Given the description of an element on the screen output the (x, y) to click on. 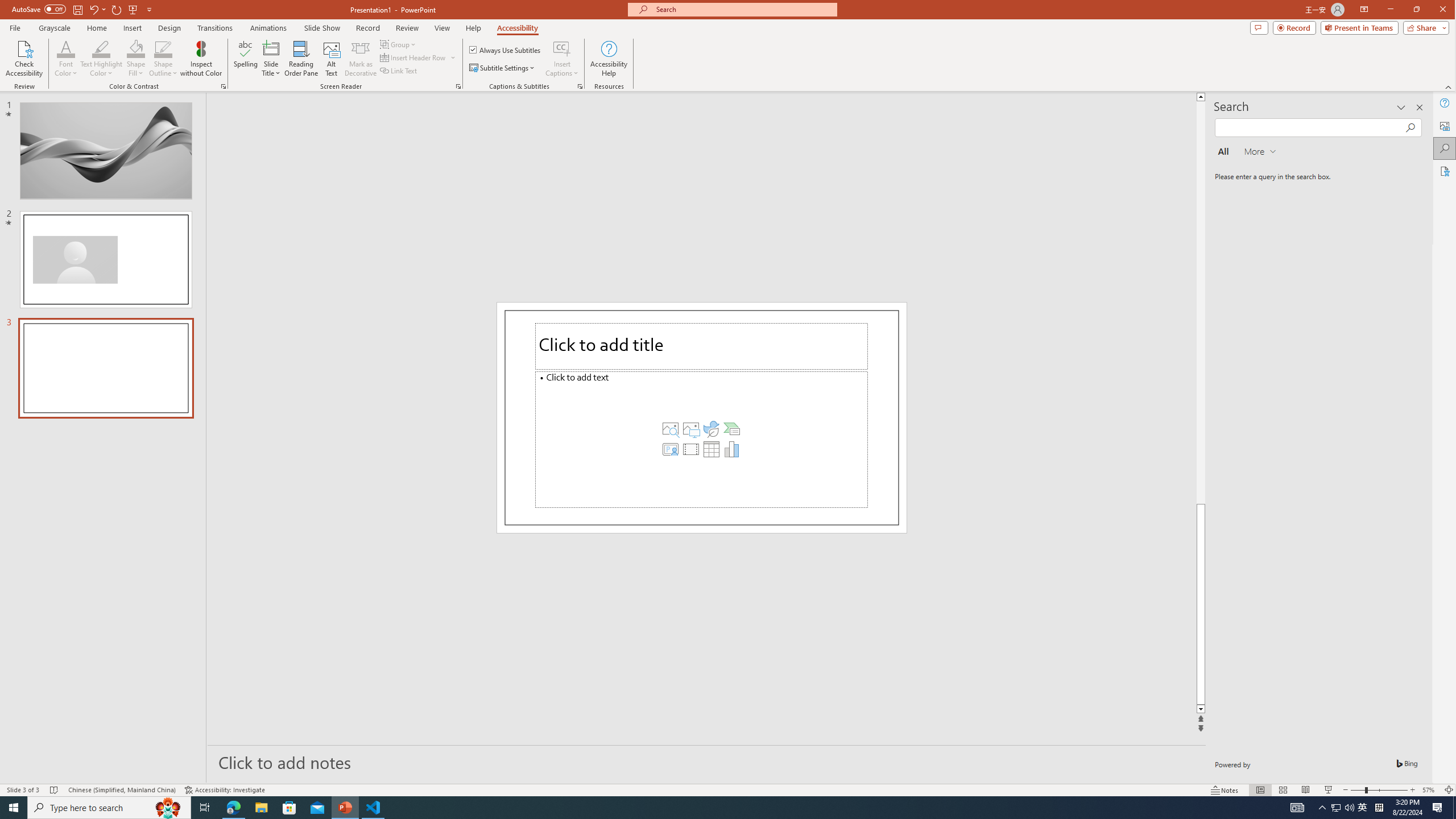
Zoom 57% (1430, 790)
Link Text (399, 69)
Insert Captions (561, 48)
